Given the description of an element on the screen output the (x, y) to click on. 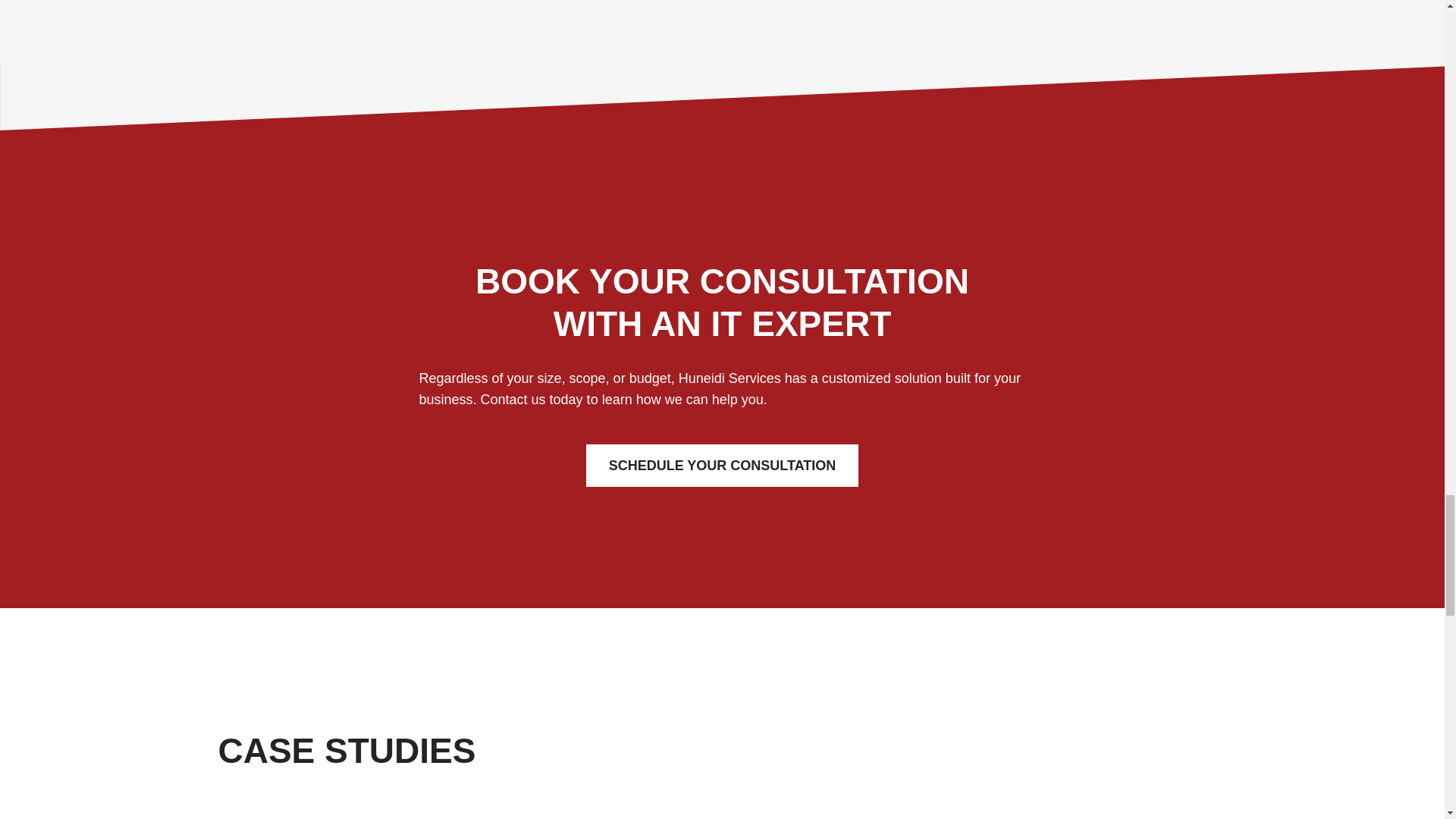
SCHEDULE YOUR CONSULTATION (722, 465)
